Given the description of an element on the screen output the (x, y) to click on. 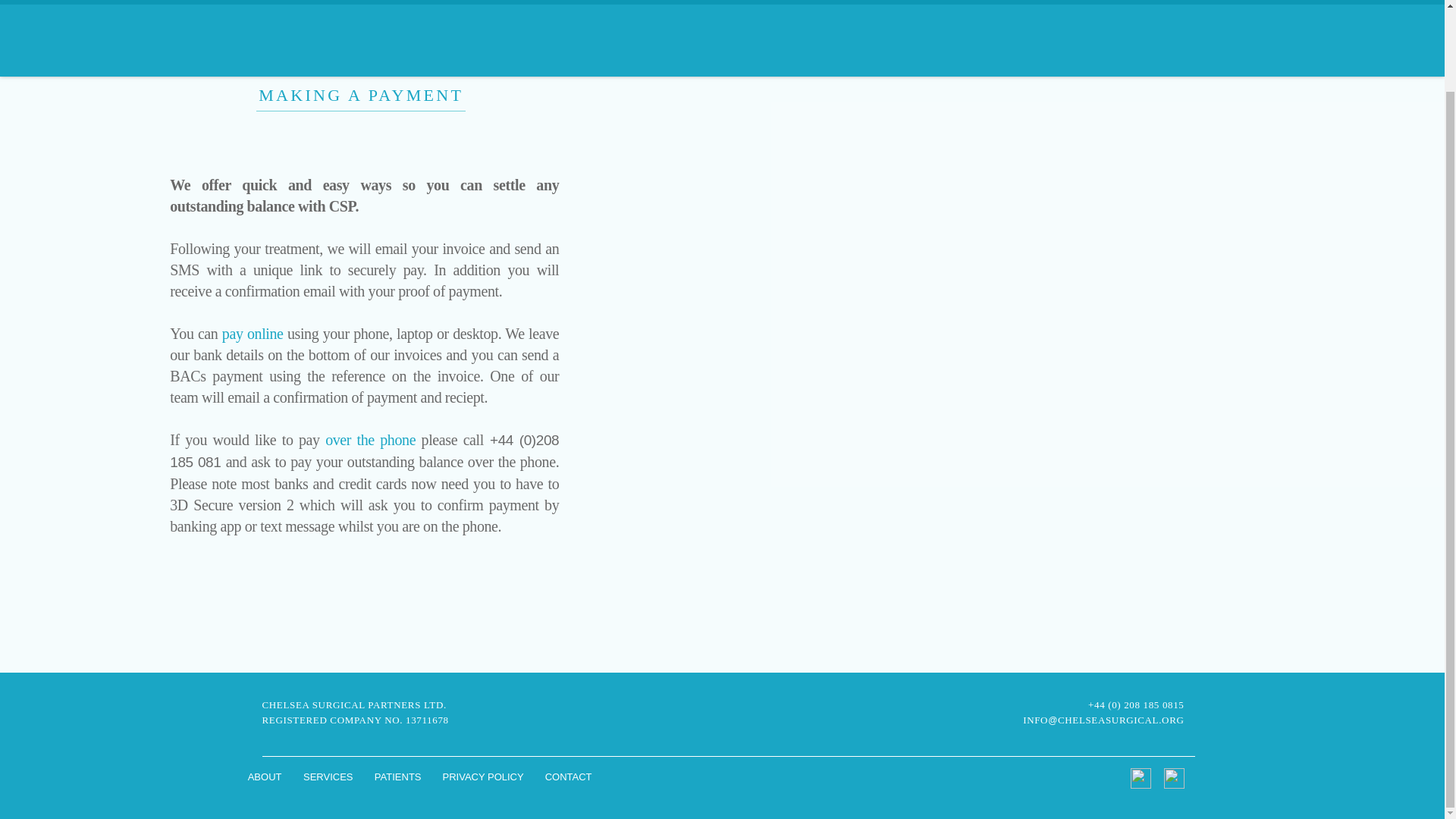
ABOUT (263, 776)
CONTACT (568, 776)
PRIVACY POLICY (483, 776)
